Given the description of an element on the screen output the (x, y) to click on. 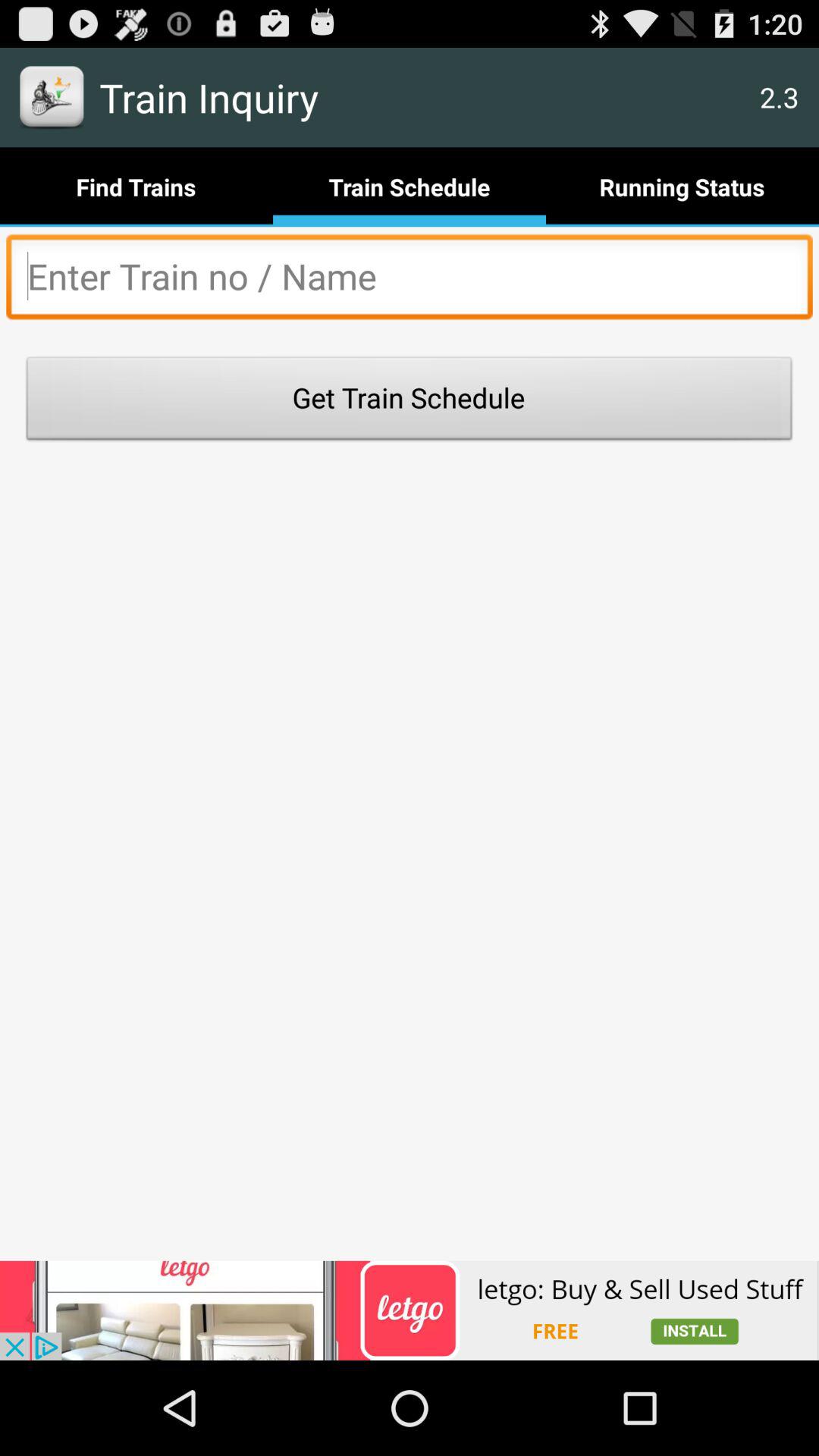
open advertisement (409, 1310)
